Given the description of an element on the screen output the (x, y) to click on. 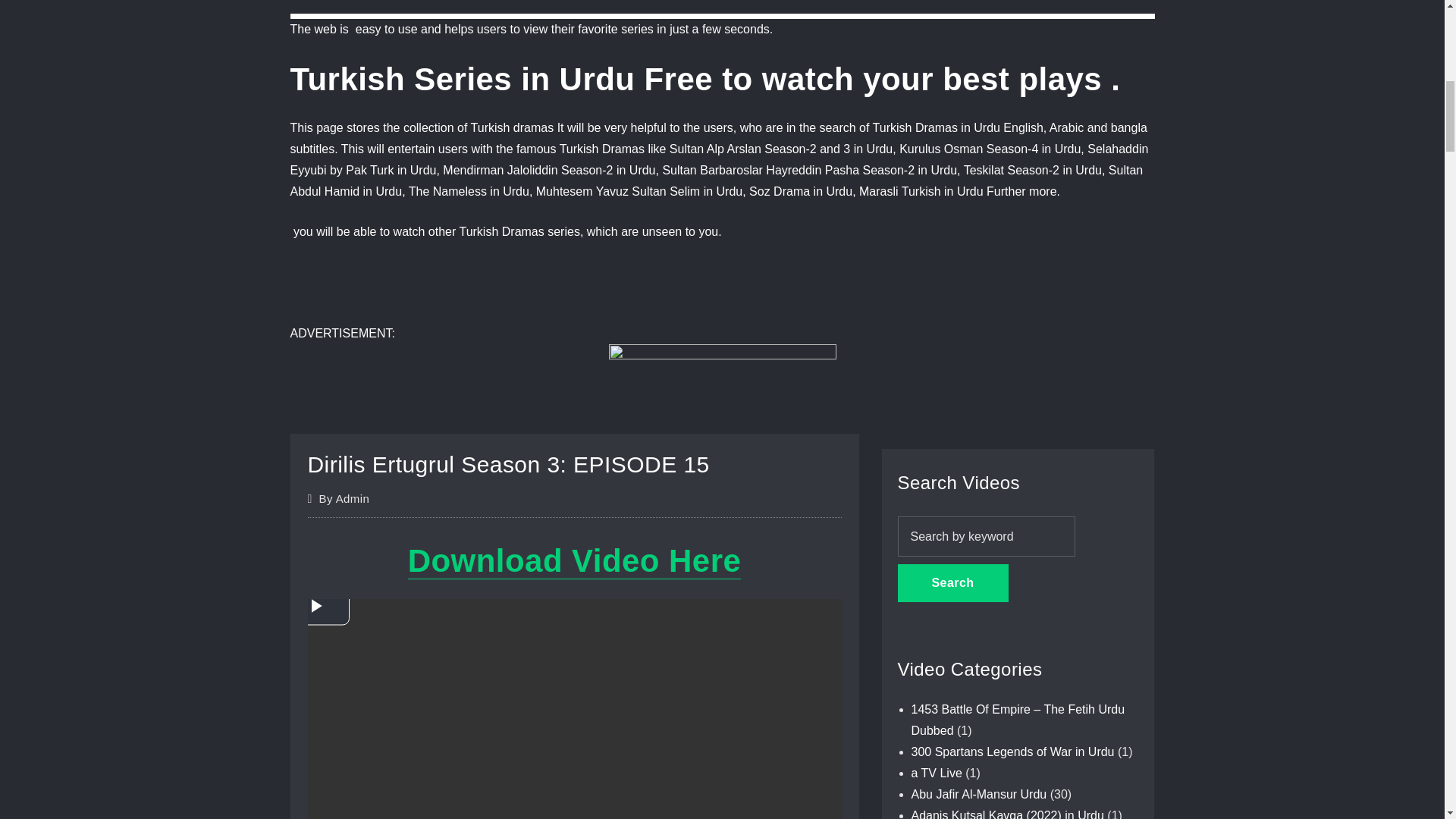
300 Spartans Legends of War in Urdu (1013, 751)
Abu Jafir Al-Mansur Urdu (978, 793)
a TV Live (936, 772)
By Admin (343, 498)
Search (953, 582)
Search (953, 582)
Download Video Here (574, 560)
